Given the description of an element on the screen output the (x, y) to click on. 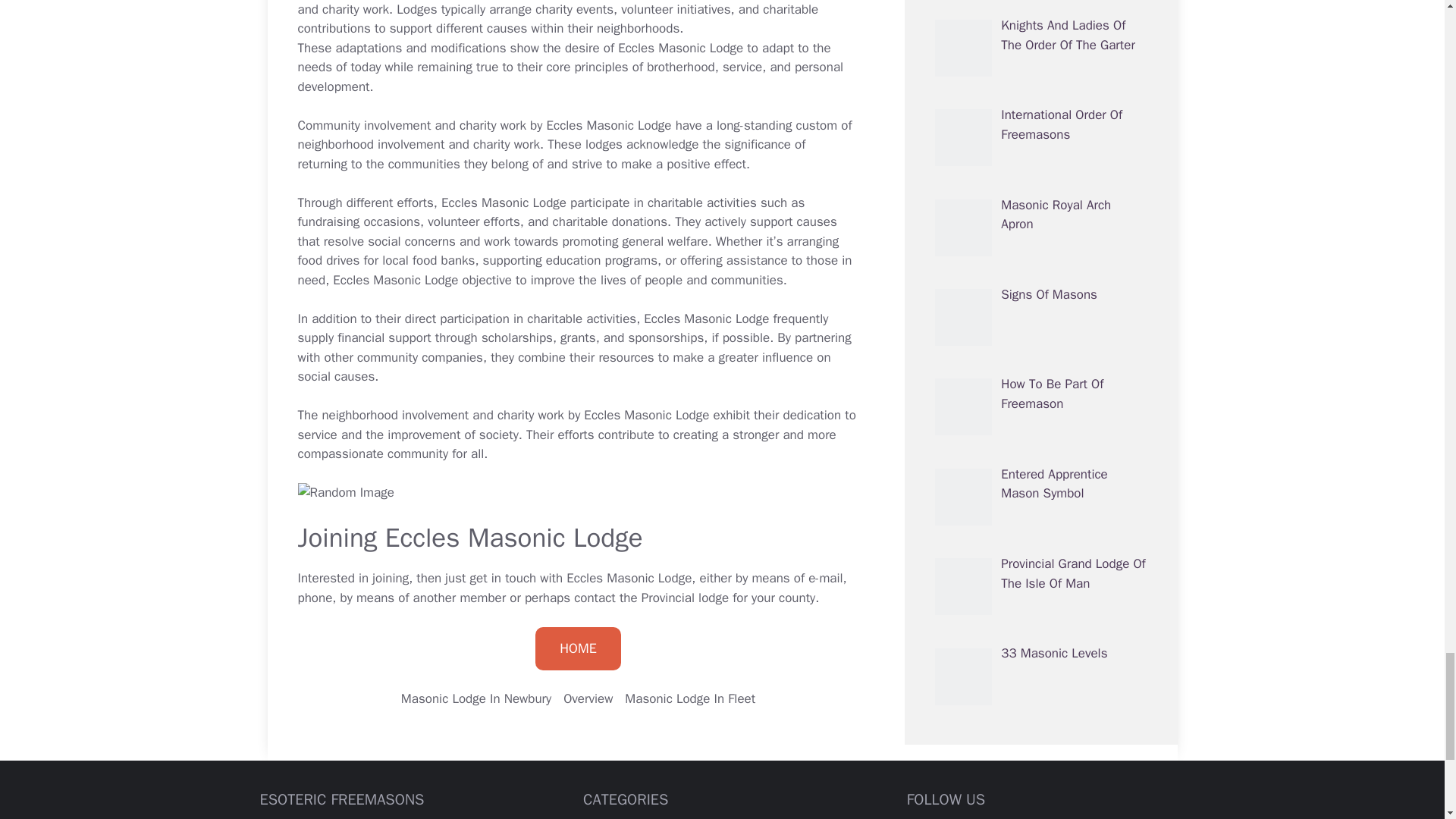
Overview (587, 698)
Masonic Lodge In Fleet (689, 698)
Masonic Lodge In Newbury (476, 698)
HOME (578, 648)
